Given the description of an element on the screen output the (x, y) to click on. 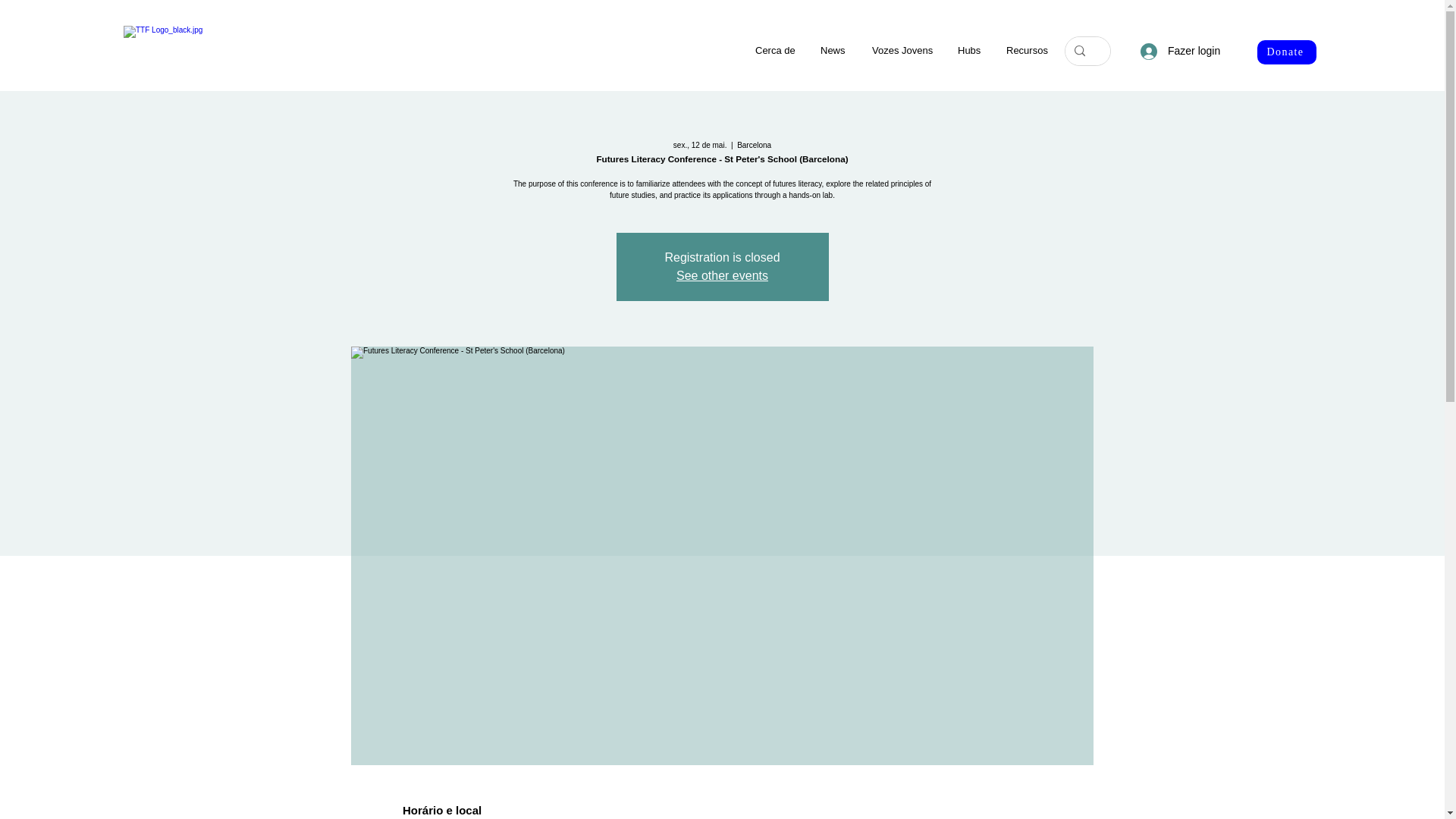
Hubs (970, 50)
Recursos (1026, 50)
Vozes Jovens (903, 50)
Cerca de (776, 50)
